Given the description of an element on the screen output the (x, y) to click on. 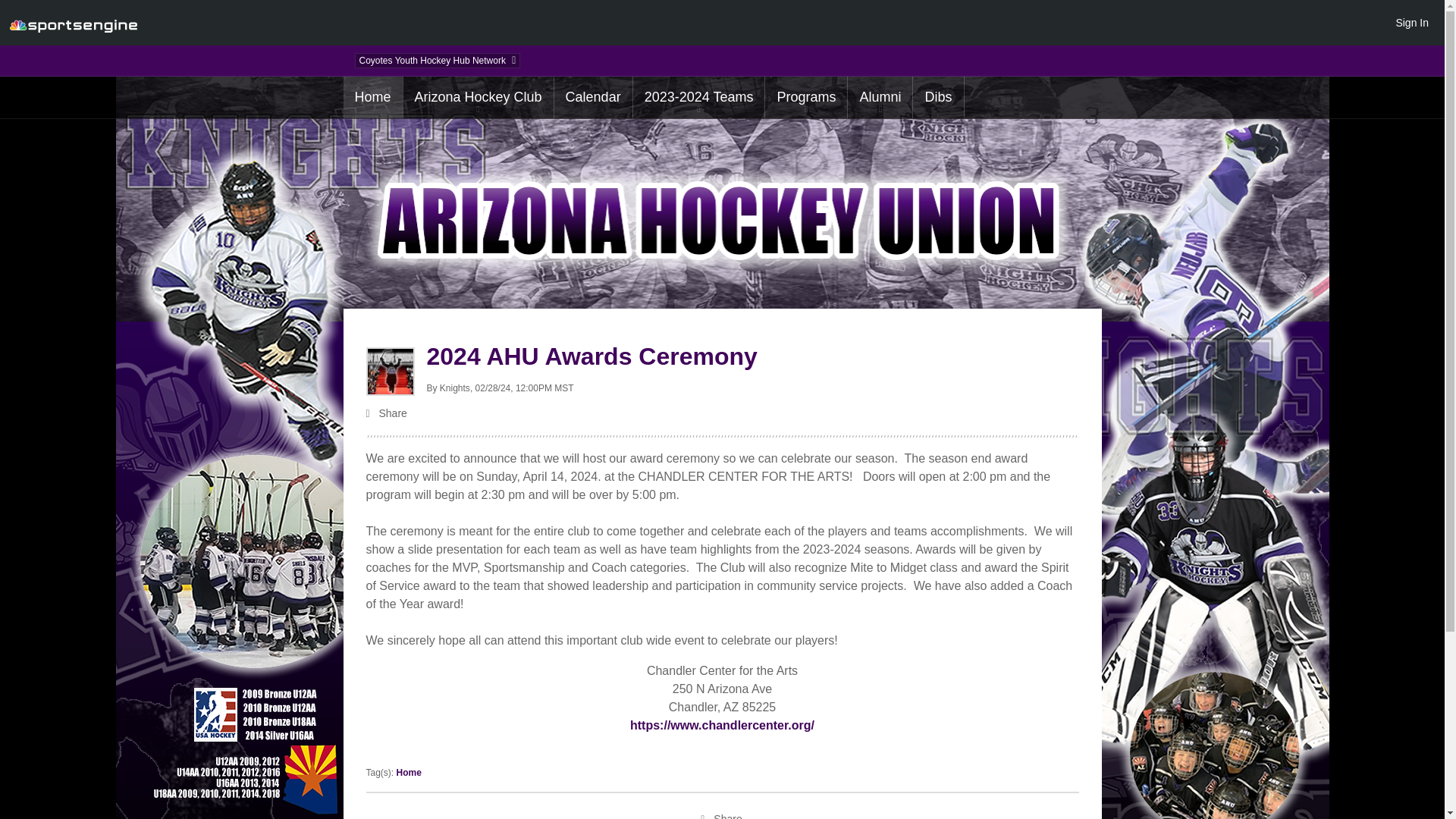
Share (721, 414)
click to go to 'Calendar' (592, 96)
Sign In (1411, 22)
2023-2024 Teams (699, 96)
click to go to 'Arizona Hockey Club' (478, 96)
click to go to 'Programs' (806, 96)
Arizona Hockey Club (478, 96)
Calendar (592, 96)
Dibs (937, 96)
Home (409, 772)
click to go to 'Arizona Hockey Club' (371, 96)
click to go to '2023-2024 Teams' (699, 96)
Programs (806, 96)
Alumni (879, 96)
